Given the description of an element on the screen output the (x, y) to click on. 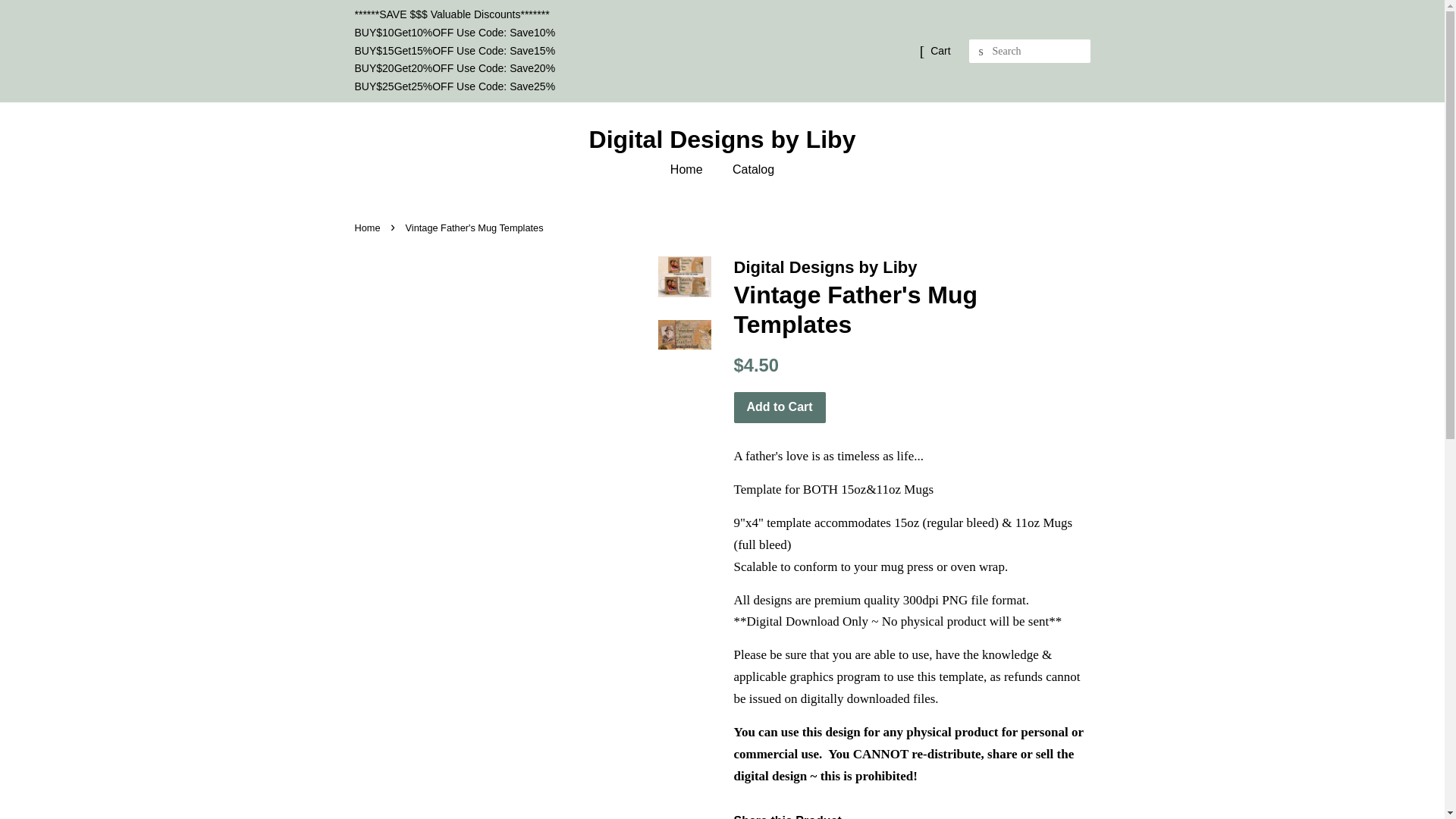
Digital Designs by Liby (722, 139)
Back to the frontpage (369, 227)
Catalog (747, 169)
Add to Cart (779, 407)
Home (693, 169)
Home (369, 227)
Cart (940, 51)
Search (980, 51)
